Given the description of an element on the screen output the (x, y) to click on. 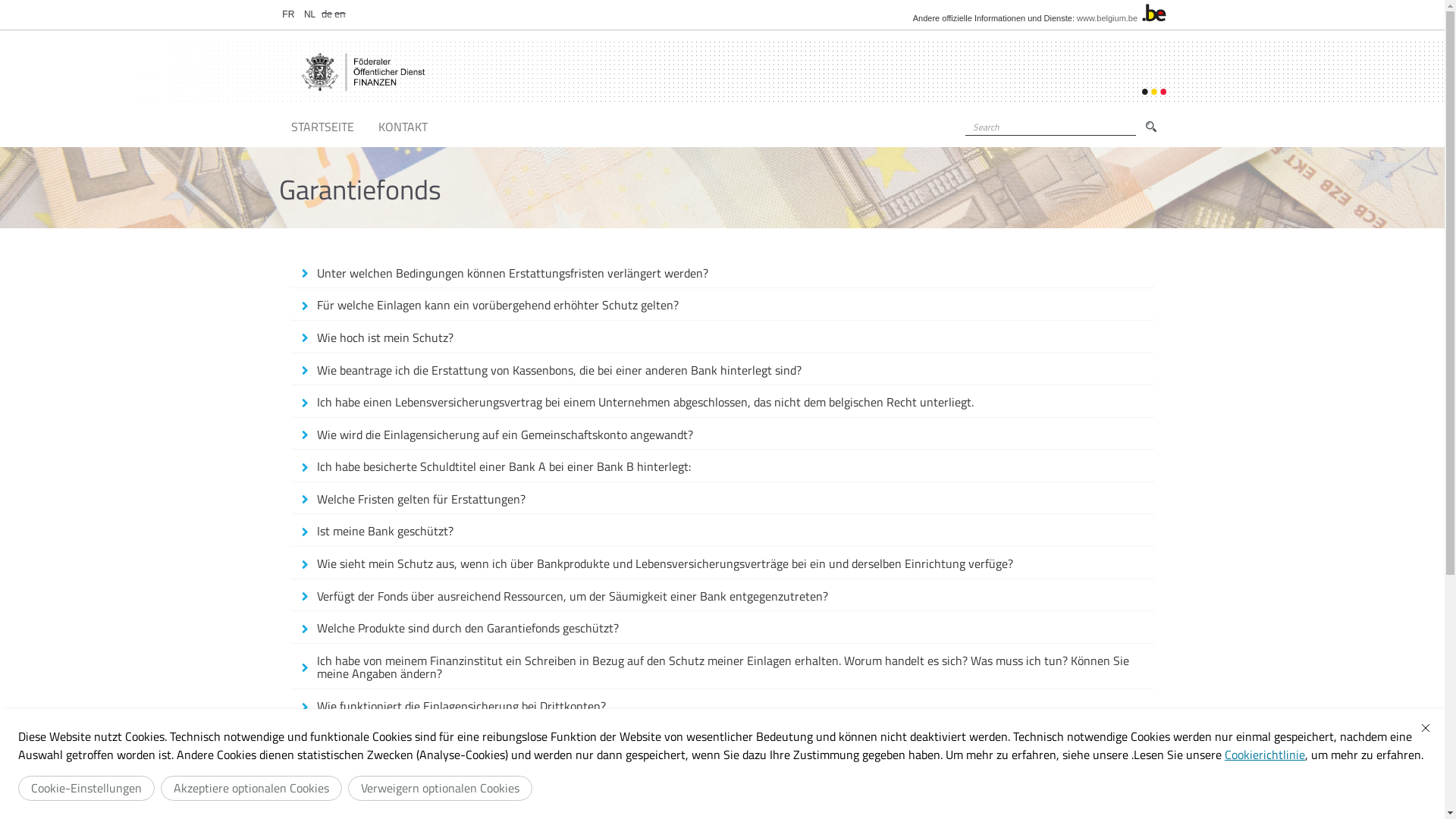
www.belgium.be Element type: text (1106, 17)
Wie hoch ist mein Schutz? Element type: text (721, 337)
Cookie-Einstellungen Element type: text (86, 787)
Verweigern optionalen Cookies Element type: text (440, 787)
KONTAKT Element type: text (402, 126)
Enter the terms you wish to search for. Element type: hover (1049, 127)
Search
Search Element type: text (1150, 126)
Wie funktioniert die Einlagensicherung bei Drittkonten? Element type: text (721, 706)
NL Element type: text (309, 13)
Akzeptiere optionalen Cookies Element type: text (251, 787)
Wer hat Anspruch auf eine Erstattung? Element type: text (721, 803)
FR Element type: text (288, 13)
Return to the Garantiefonds homepage Element type: hover (363, 72)
Cookierichtlinie Element type: text (1264, 754)
STARTSEITE Element type: text (322, 126)
Search Element type: text (968, 142)
Skip to main content Element type: text (17, 0)
